Given the description of an element on the screen output the (x, y) to click on. 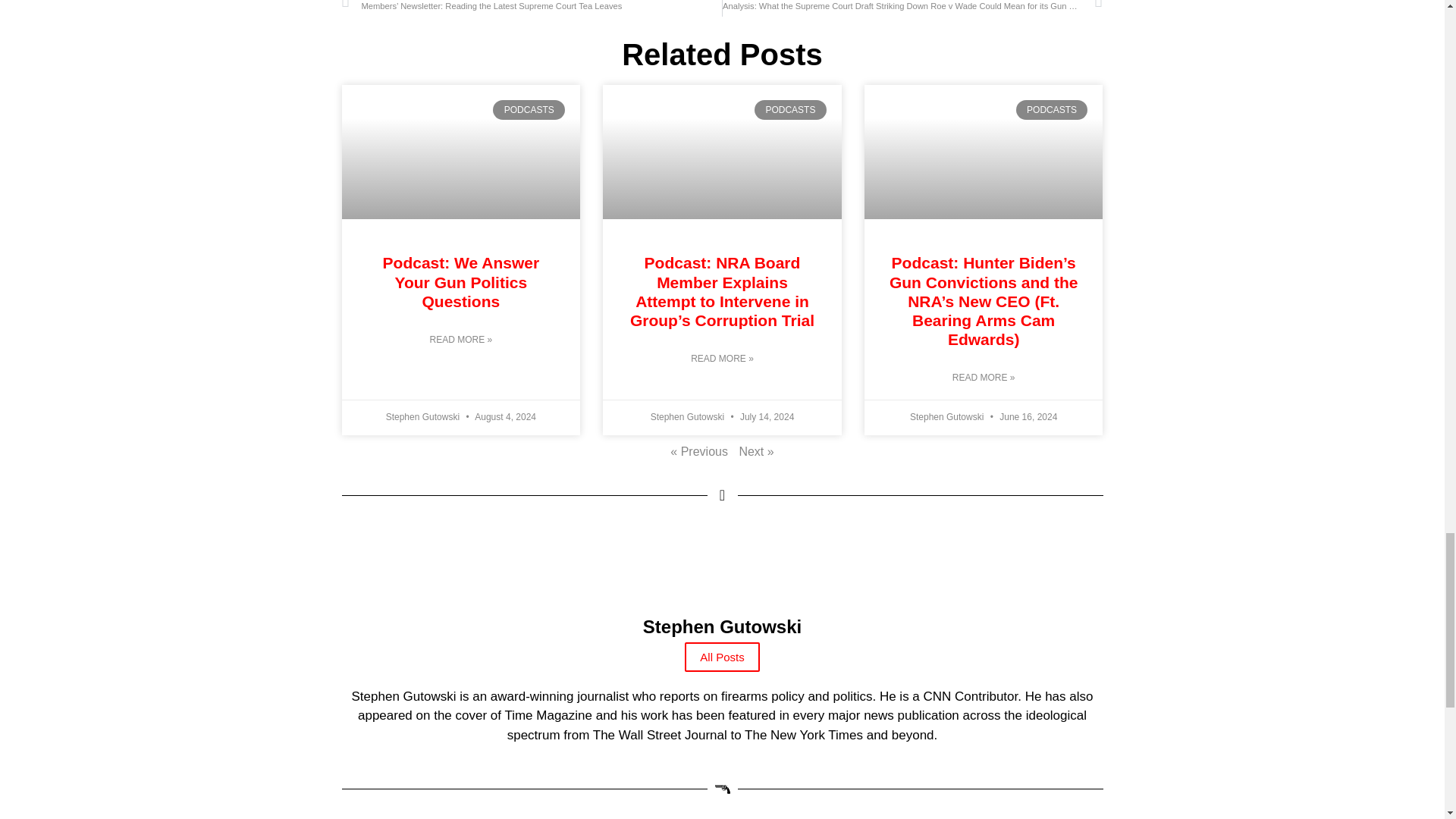
All Posts (721, 656)
Podcast: We Answer Your Gun Politics Questions (461, 281)
Stephen Gutowski (721, 640)
